Given the description of an element on the screen output the (x, y) to click on. 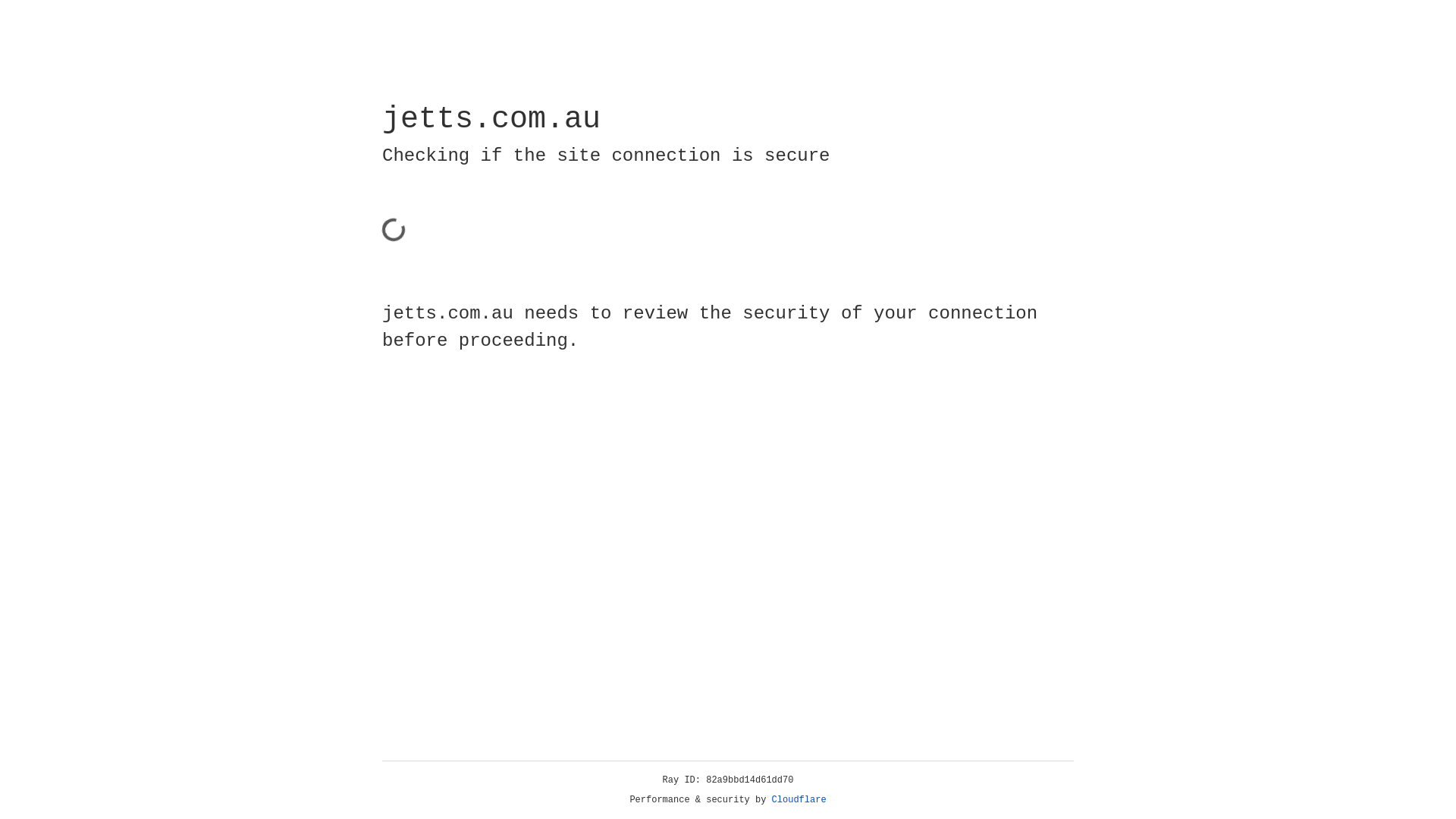
Cloudflare Element type: text (798, 799)
